Given the description of an element on the screen output the (x, y) to click on. 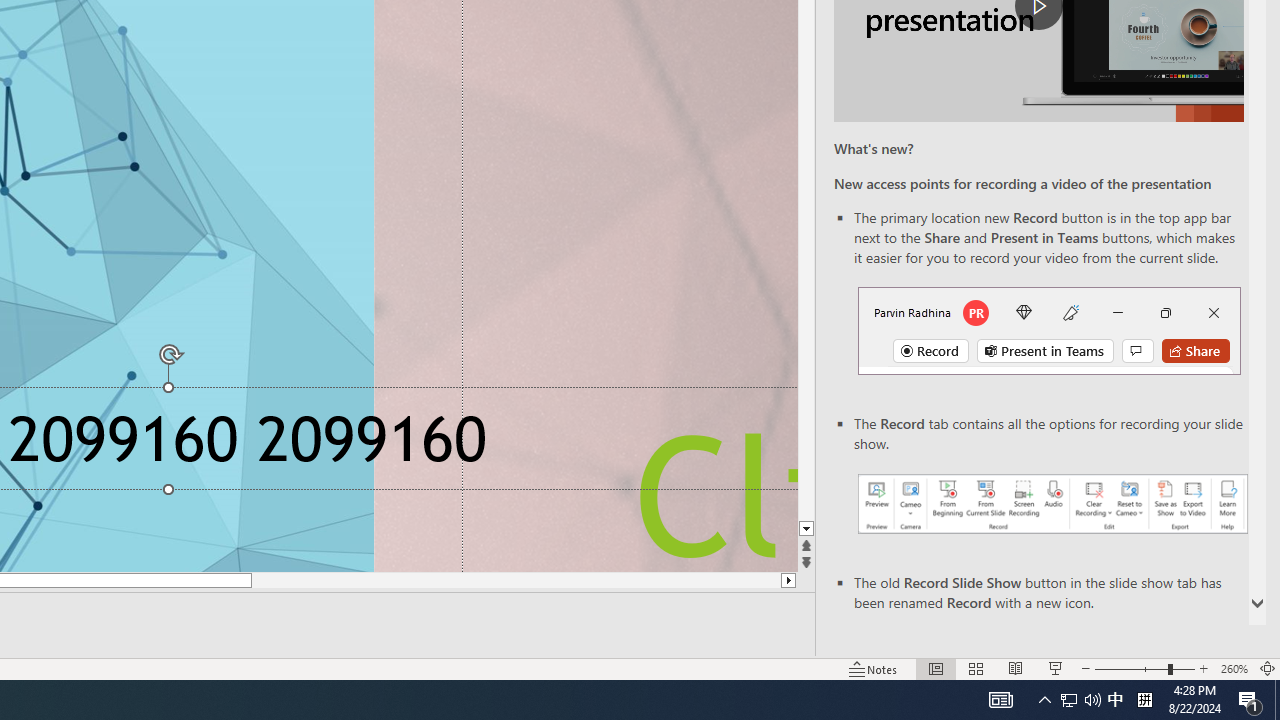
Record your presentations screenshot one (1052, 503)
Zoom 260% (1234, 668)
Record button in top bar (1049, 331)
